Given the description of an element on the screen output the (x, y) to click on. 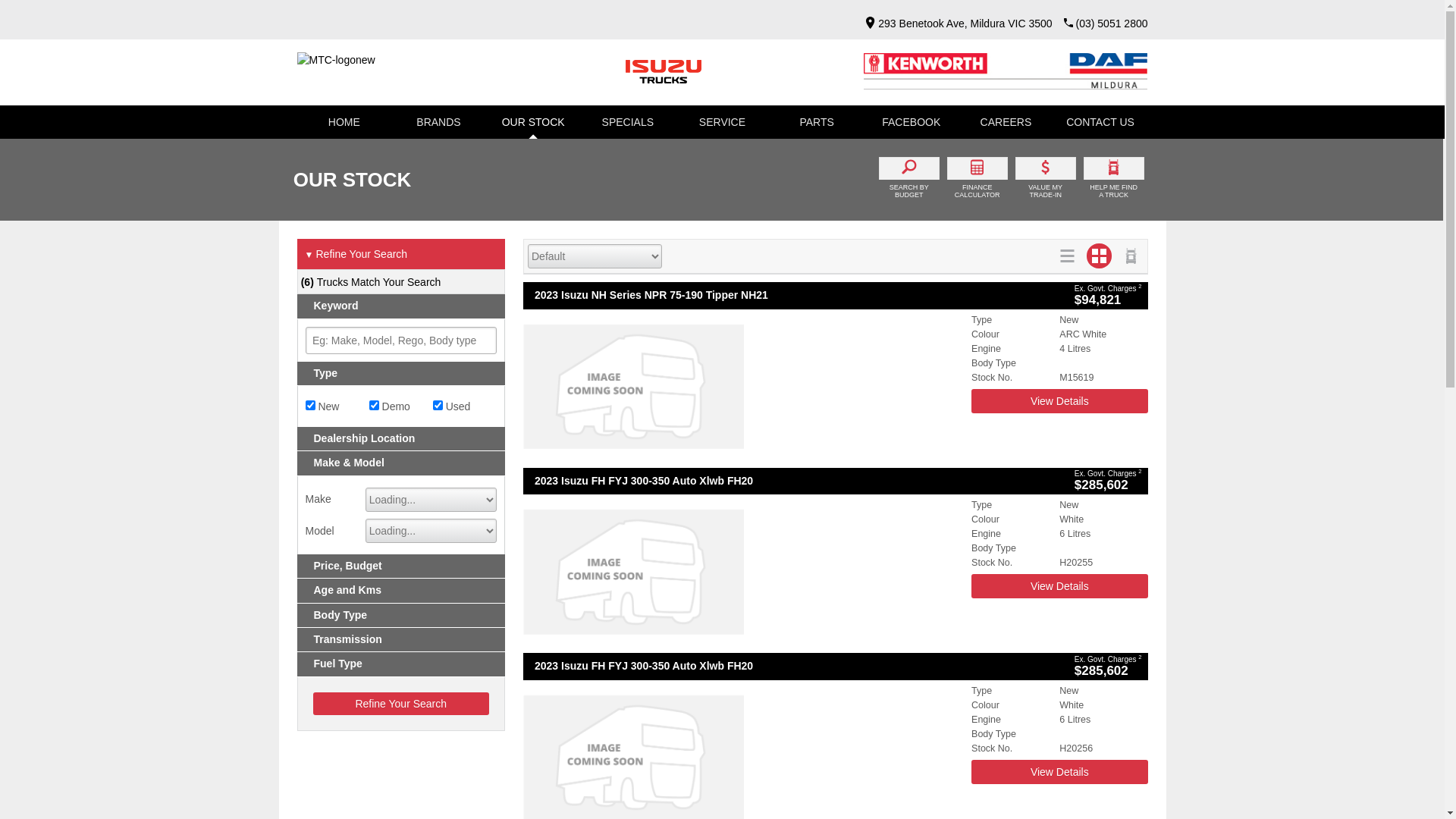
Make & Model Element type: text (401, 462)
Dealership Location Element type: text (401, 438)
HELP ME FIND A TRUCK Element type: text (1113, 179)
FACEBOOK Element type: text (910, 121)
Refine Your Search Element type: text (400, 703)
CAREERS Element type: text (1005, 121)
(03) 5051 2800 Element type: text (1112, 23)
View Details Element type: text (1059, 401)
2023 Isuzu FH FYJ 300-350 Auto Xlwb FH20 Element type: text (795, 665)
View Details Element type: text (1059, 771)
2023 Isuzu NH Series NPR 75-190 Tipper NH21 Element type: text (795, 295)
Keyword Element type: text (401, 305)
293 Benetook Ave, Mildura VIC 3500 Element type: text (954, 23)
BRANDS Element type: text (438, 121)
Price, Budget Element type: text (401, 565)
SPECIALS Element type: text (627, 121)
Ex. Govt. Charges 2
$94,821 Element type: text (1108, 295)
OUR STOCK Element type: text (533, 121)
HOME Element type: text (344, 121)
2023 ISUZU NH Series Element type: hover (743, 386)
SERVICE Element type: text (721, 121)
PARTS Element type: text (816, 121)
Ex. Govt. Charges 2
$285,602 Element type: text (1108, 480)
Fuel Type Element type: text (401, 663)
View Details Element type: text (1059, 586)
Type Element type: text (401, 373)
2023 ISUZU FH Element type: hover (743, 571)
SEARCH BY BUDGET Element type: text (908, 179)
Body Type Element type: text (401, 615)
FINANCE CALCULATOR Element type: text (977, 179)
Age and Kms Element type: text (401, 590)
Ex. Govt. Charges 2
$285,602 Element type: text (1108, 665)
CONTACT US Element type: text (1100, 121)
2023 Isuzu FH FYJ 300-350 Auto Xlwb FH20 Element type: text (795, 480)
VALUE MY TRADE-IN Element type: text (1045, 179)
Transmission Element type: text (401, 639)
